Given the description of an element on the screen output the (x, y) to click on. 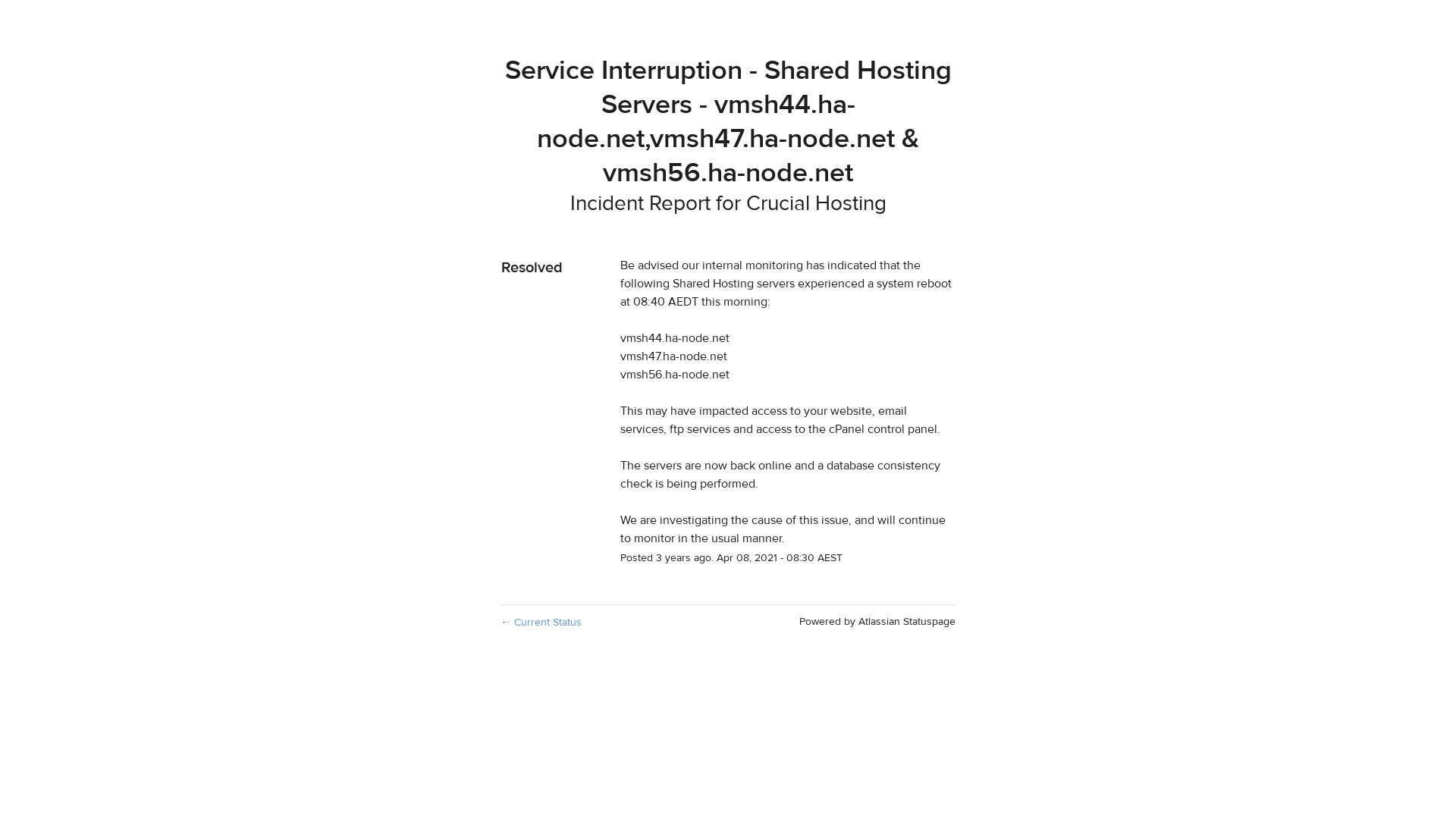
Powered by Atlassian Statuspage Element type: text (877, 621)
Crucial Hosting Element type: text (816, 203)
